Given the description of an element on the screen output the (x, y) to click on. 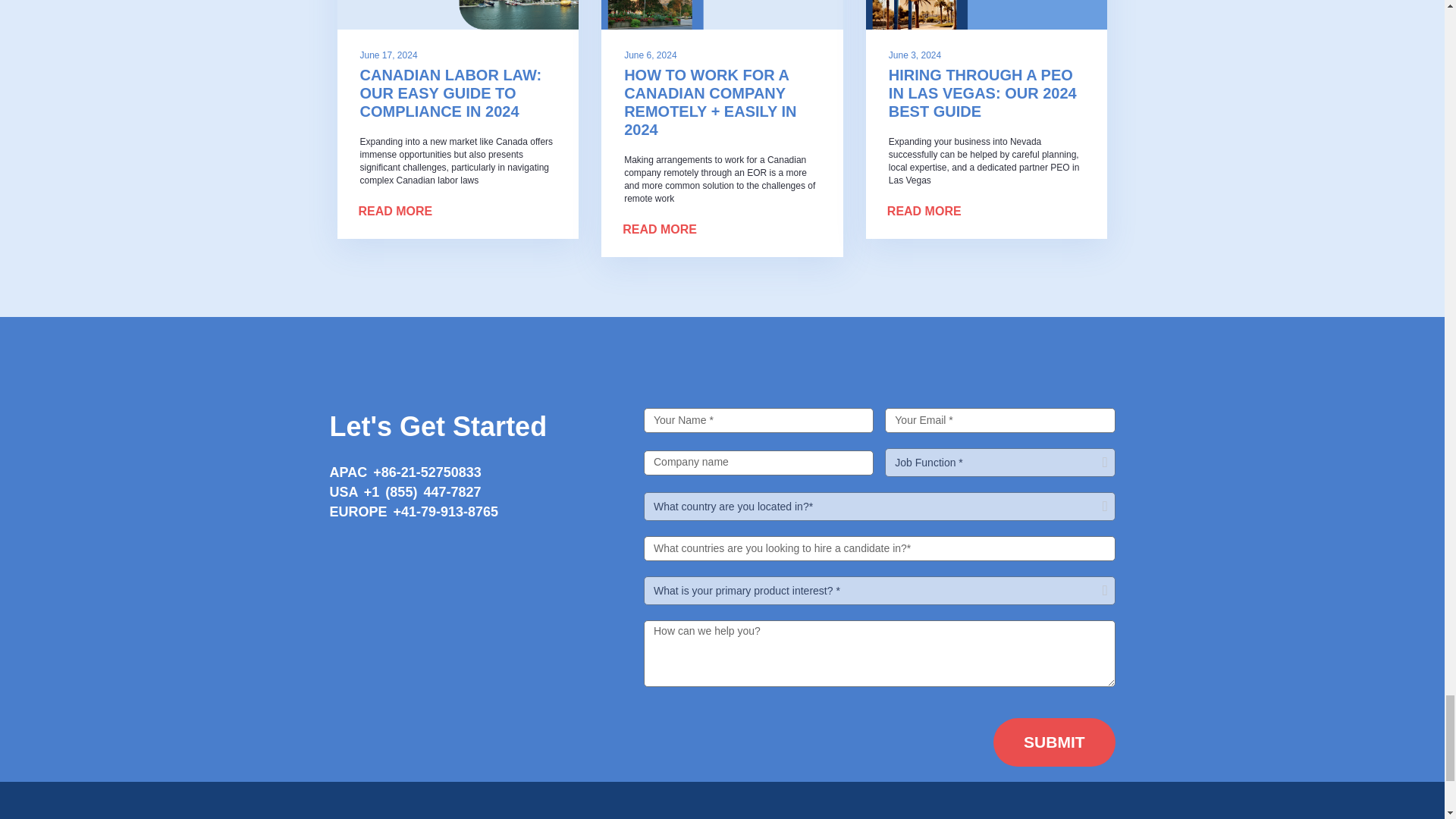
Icon feather-arrow-right (546, 213)
Icon feather-arrow-right (811, 231)
Icon feather-arrow-right (1074, 213)
